Given the description of an element on the screen output the (x, y) to click on. 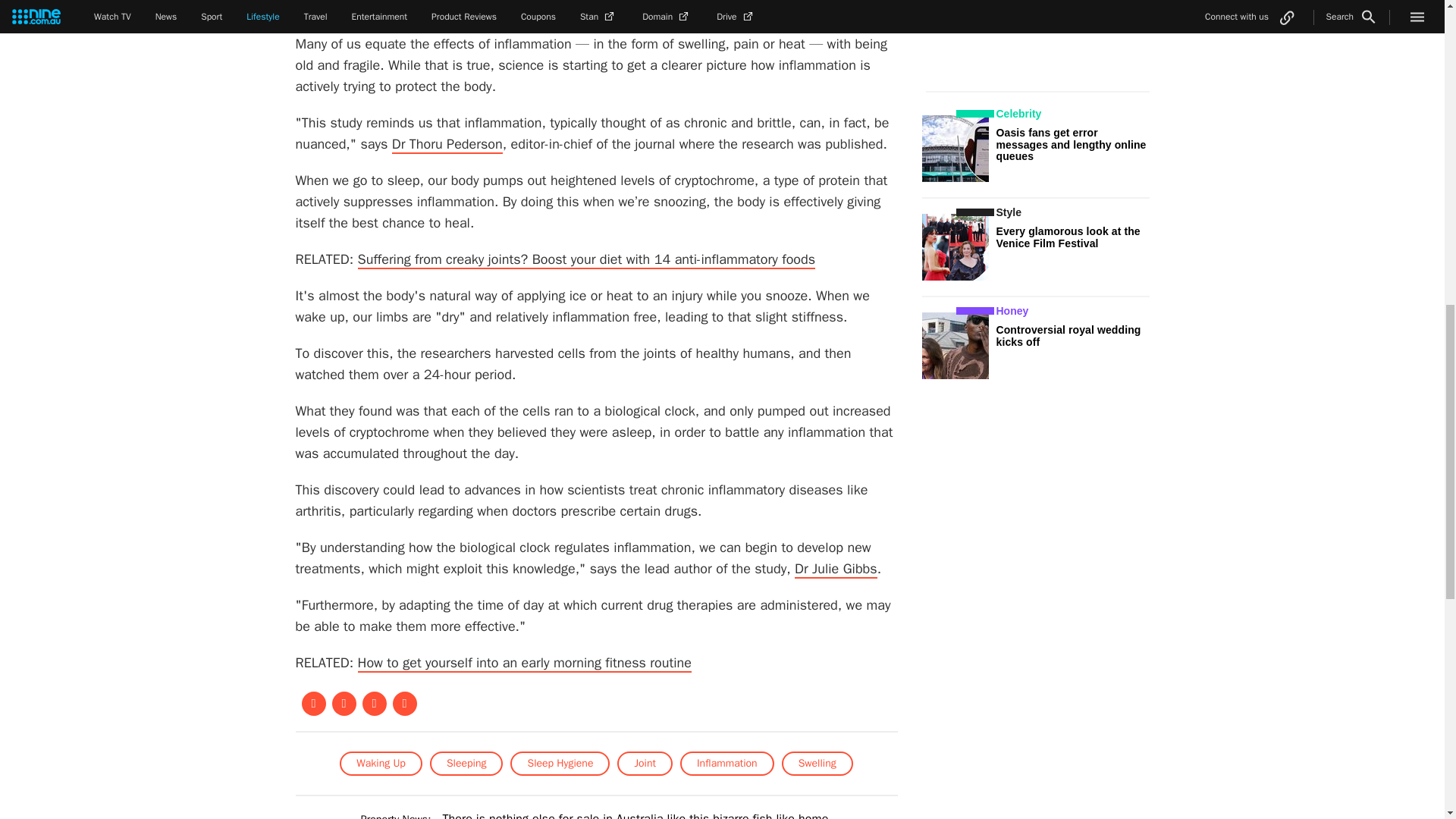
How to get yourself into an early morning fitness routine (524, 663)
Sleeping (466, 763)
Joint (644, 763)
Sleep Hygiene (560, 763)
Dr Thoru Pederson (446, 144)
Dr Julie Gibbs (835, 569)
Waking Up (380, 763)
